Given the description of an element on the screen output the (x, y) to click on. 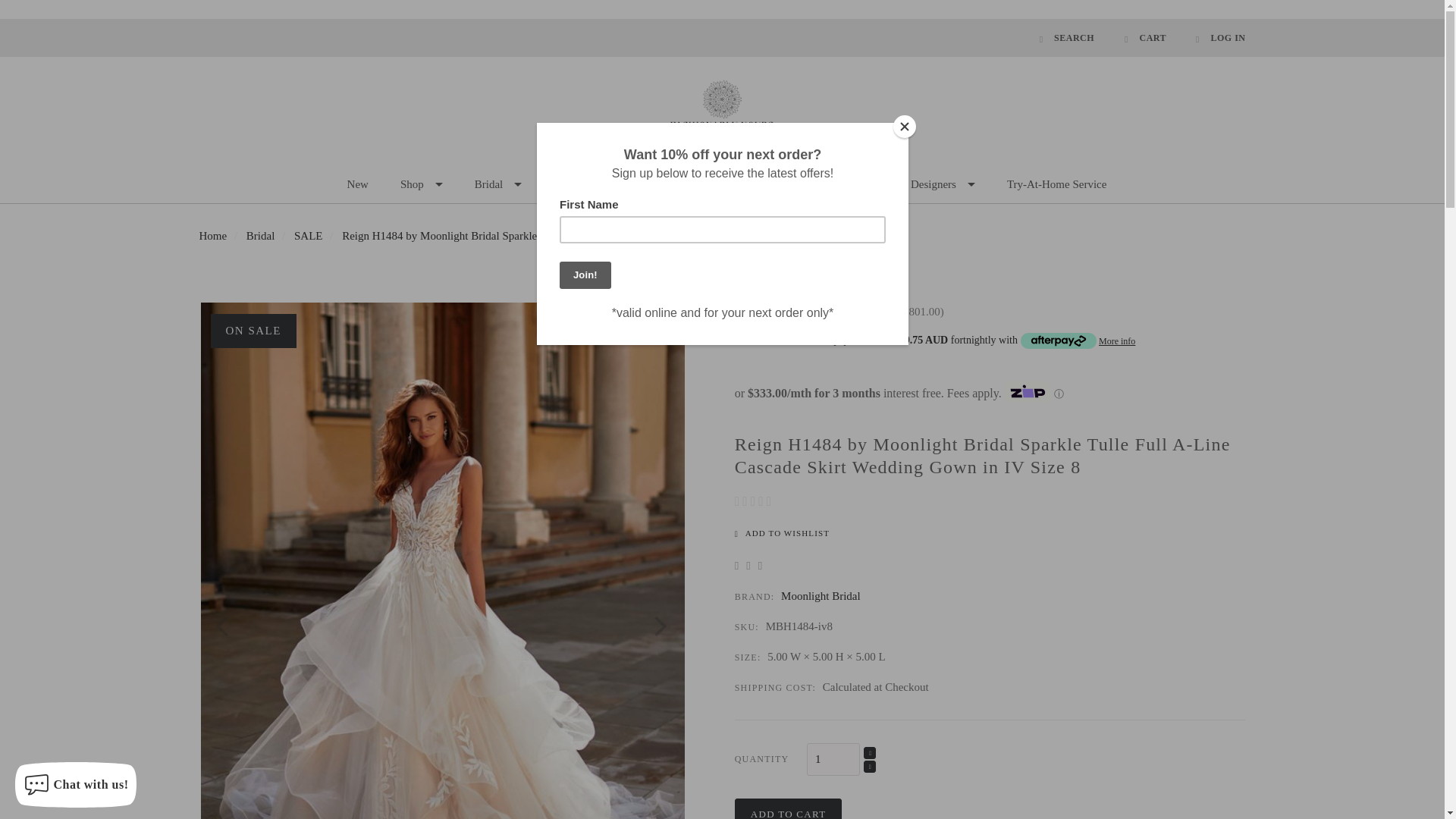
New (358, 184)
LOG IN (1212, 37)
1 (833, 758)
Shop (421, 184)
SEARCH (1067, 37)
CART (1144, 37)
Bridal (498, 184)
Smile.io Rewards Program Launcher (1374, 780)
